Given the description of an element on the screen output the (x, y) to click on. 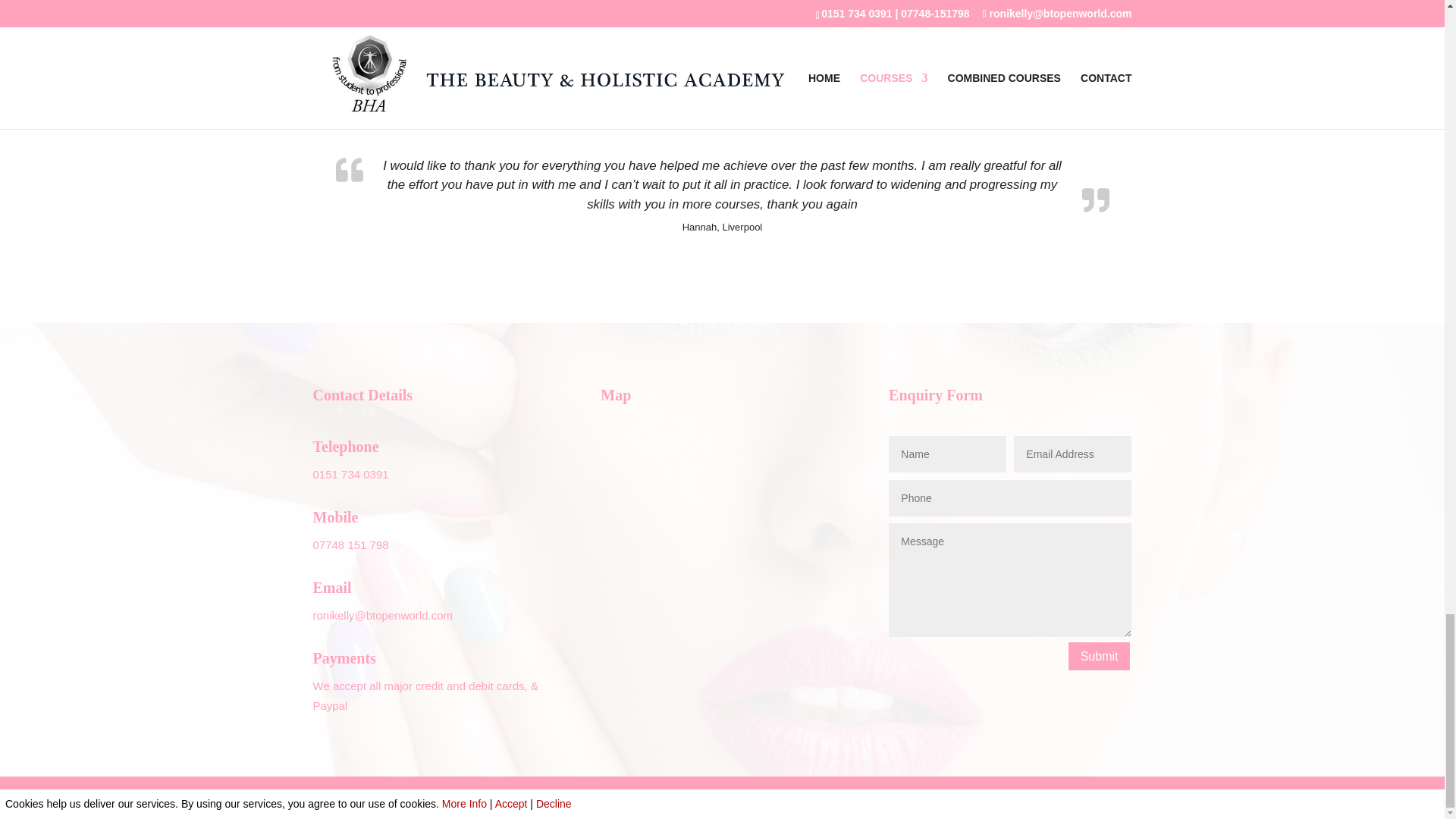
0151 734 0391 (350, 473)
07748 151 798 (350, 544)
Submit (1099, 655)
